Given the description of an element on the screen output the (x, y) to click on. 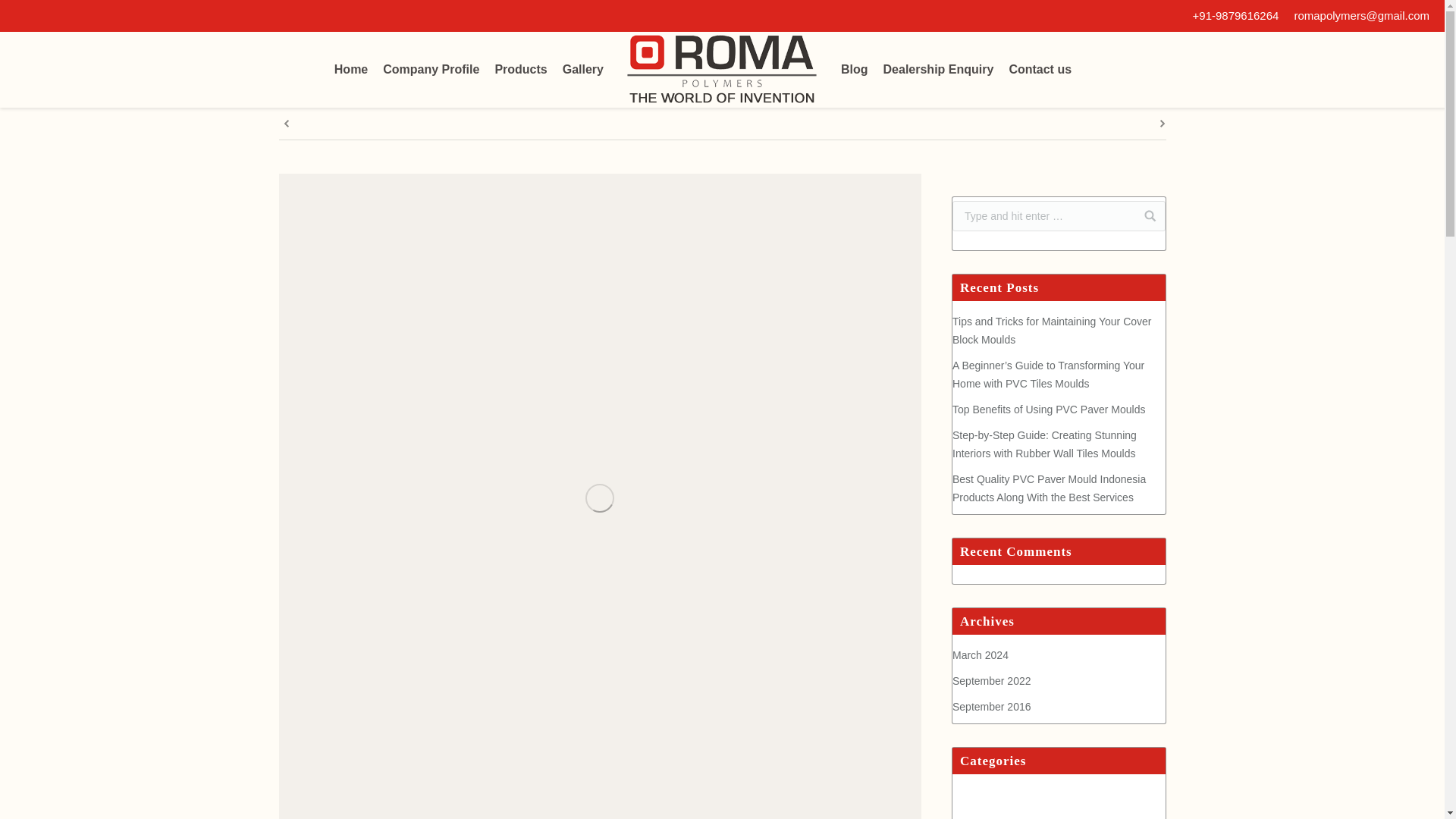
Dealership Enquiry (938, 69)
Go! (1144, 215)
Company Profile (430, 69)
Go! (1144, 215)
Contact us (1039, 69)
